Given the description of an element on the screen output the (x, y) to click on. 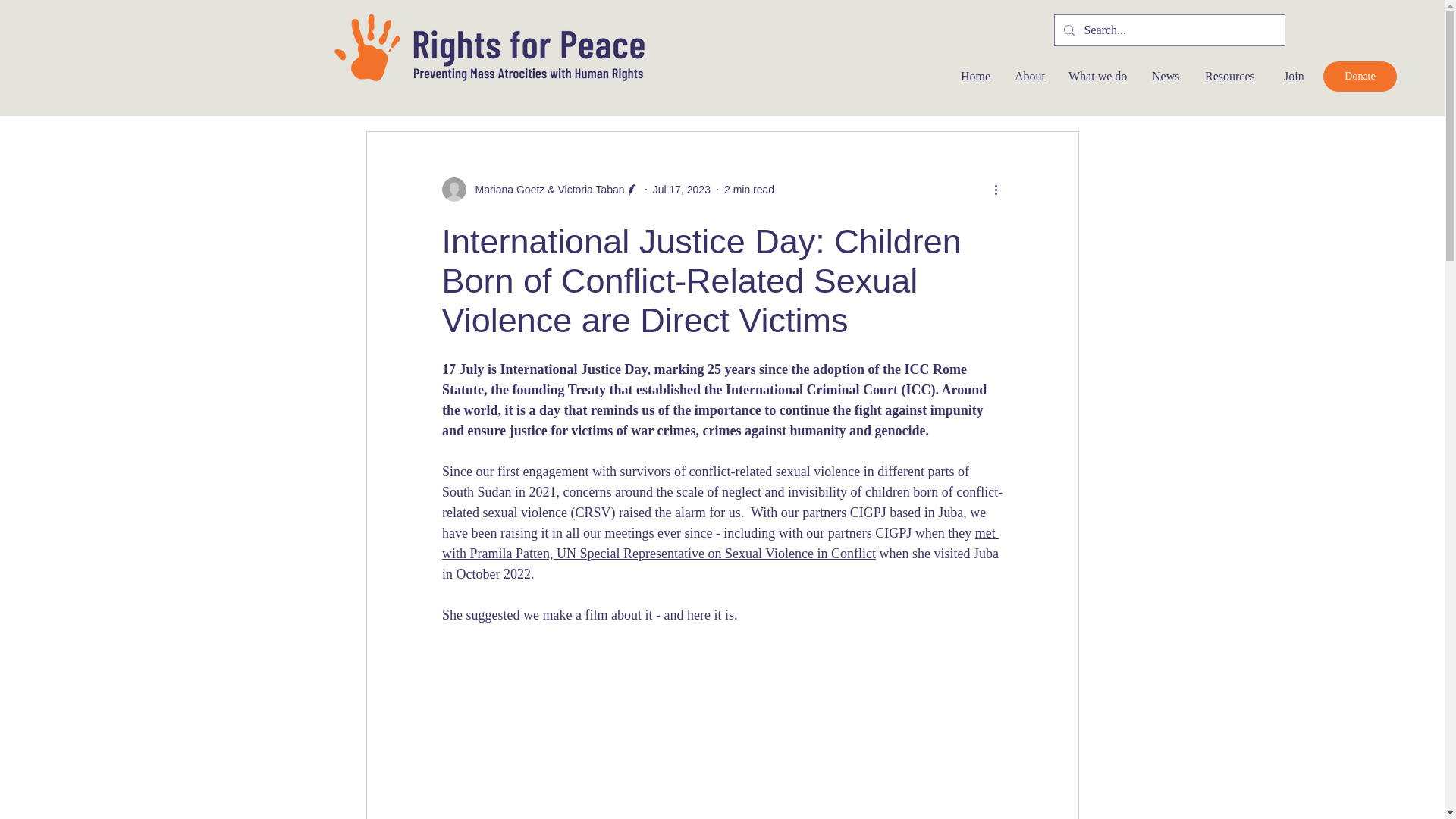
News (1166, 76)
2 min read (748, 189)
Home (976, 76)
Join (1294, 76)
Jul 17, 2023 (681, 189)
Twitter Follow (1319, 25)
Donate (1359, 76)
